Given the description of an element on the screen output the (x, y) to click on. 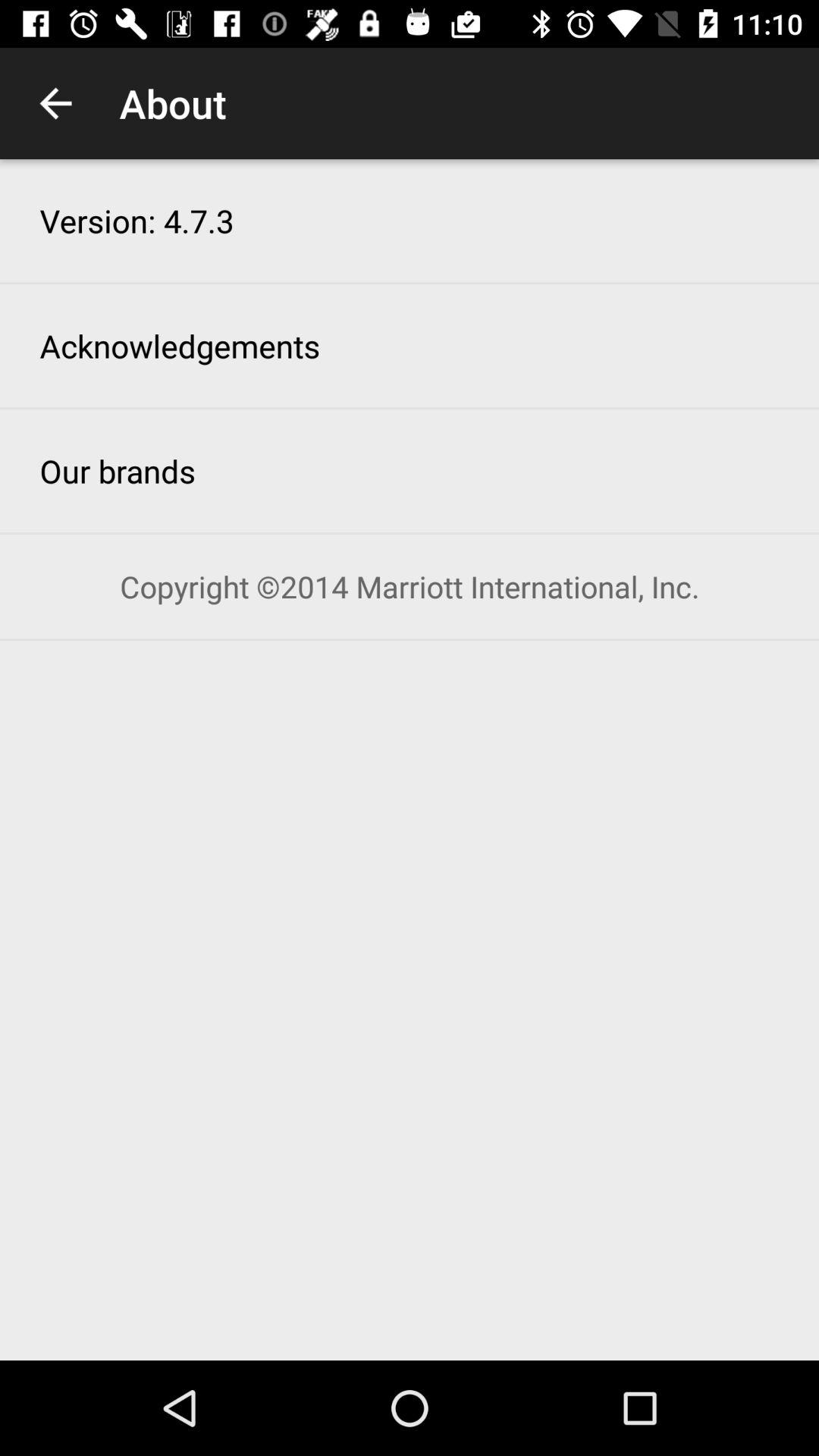
select the item below the acknowledgements (117, 470)
